Given the description of an element on the screen output the (x, y) to click on. 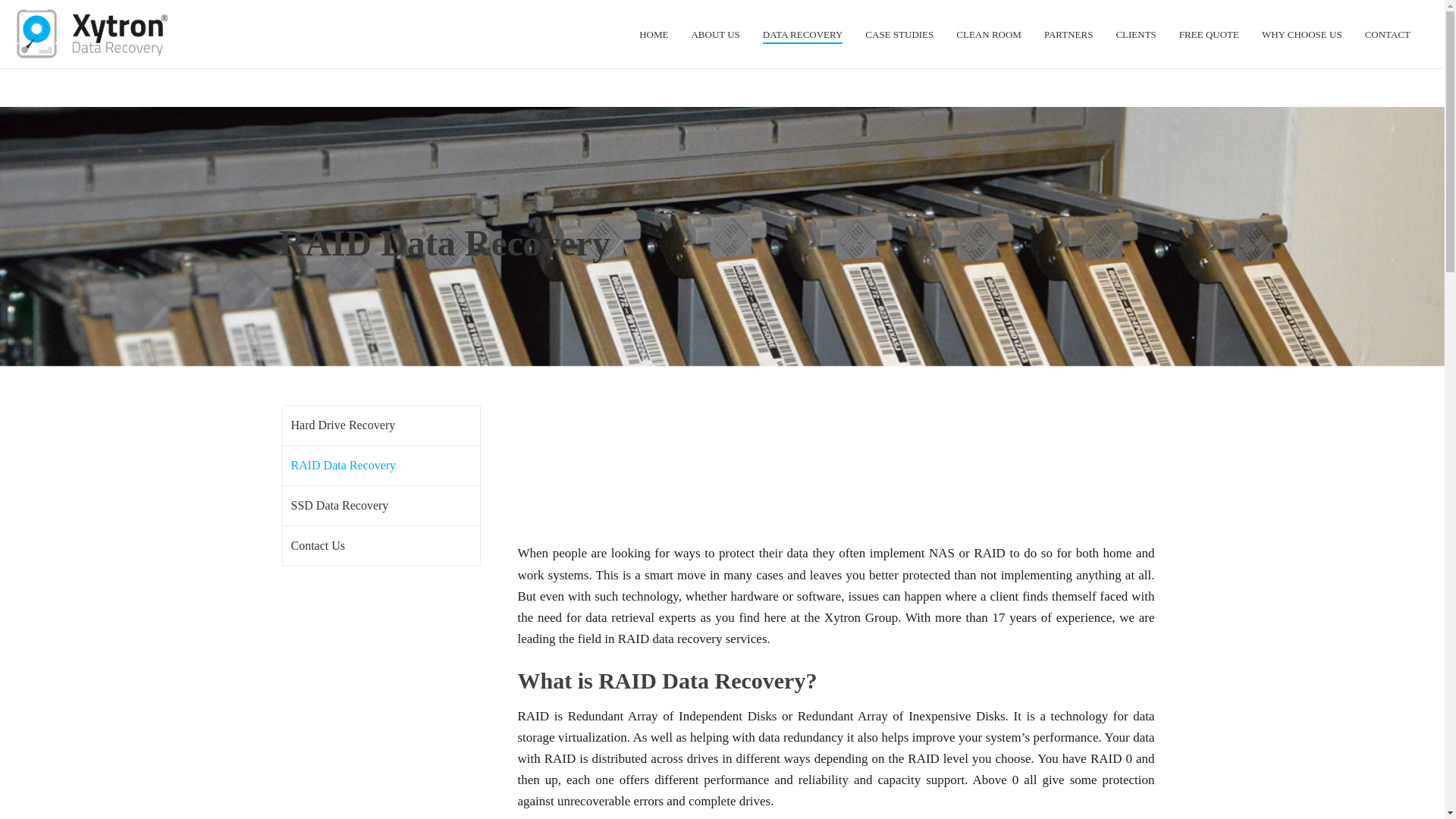
ABOUT US (715, 34)
RAID Data Recovery (343, 465)
FREE QUOTE (1208, 34)
ABOUT US (715, 34)
WHY CHOOSE US (1302, 34)
SSD Data Recovery (339, 505)
CASE STUDIES (898, 34)
CLIENTS (1135, 34)
CONTACT (1388, 34)
Hard Drive Recovery (342, 425)
